Given the description of an element on the screen output the (x, y) to click on. 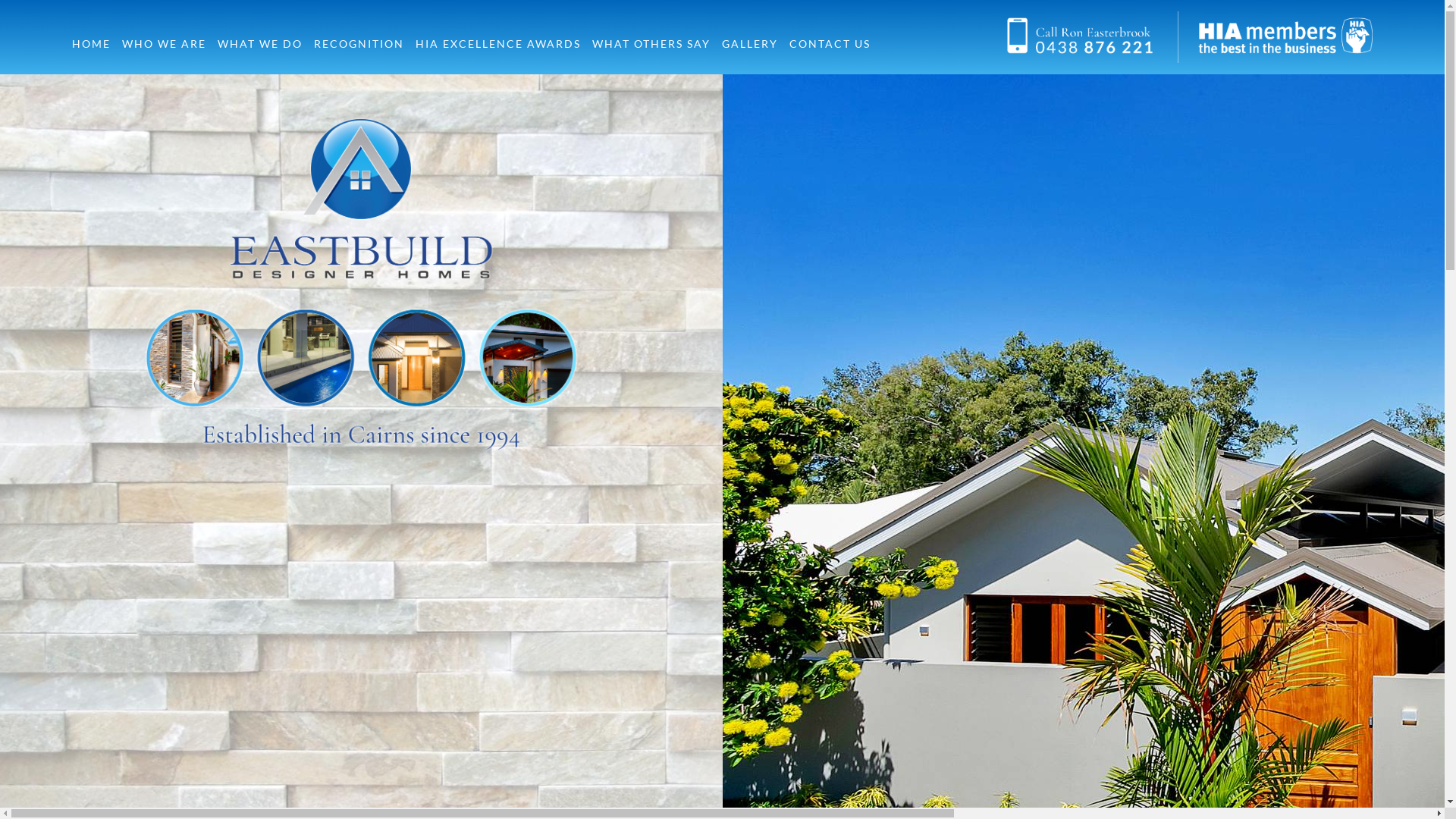
HIA EXCELLENCE AWARDS Element type: text (498, 43)
WHAT WE DO Element type: text (259, 43)
RECOGNITION Element type: text (358, 43)
WHAT OTHERS SAY Element type: text (650, 43)
WHO WE ARE Element type: text (163, 43)
GALLERY Element type: text (749, 43)
CONTACT US Element type: text (829, 43)
HOME Element type: text (91, 43)
